Given the description of an element on the screen output the (x, y) to click on. 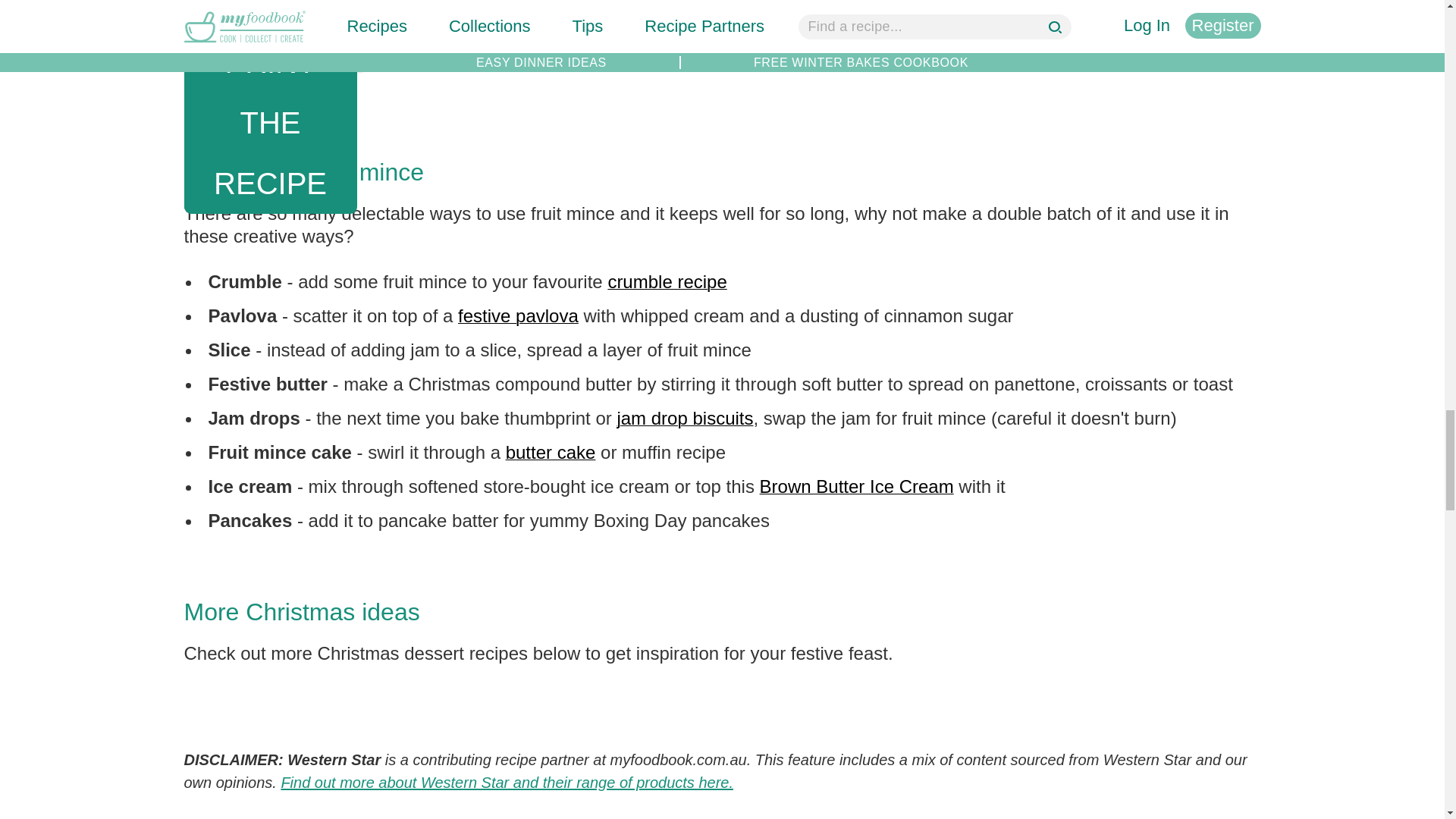
View the Recipe for Giant Fruit Mince Pie (550, 2)
crumble recipe (666, 281)
Print Giant Fruit Mince Pie (274, 61)
